Given the description of an element on the screen output the (x, y) to click on. 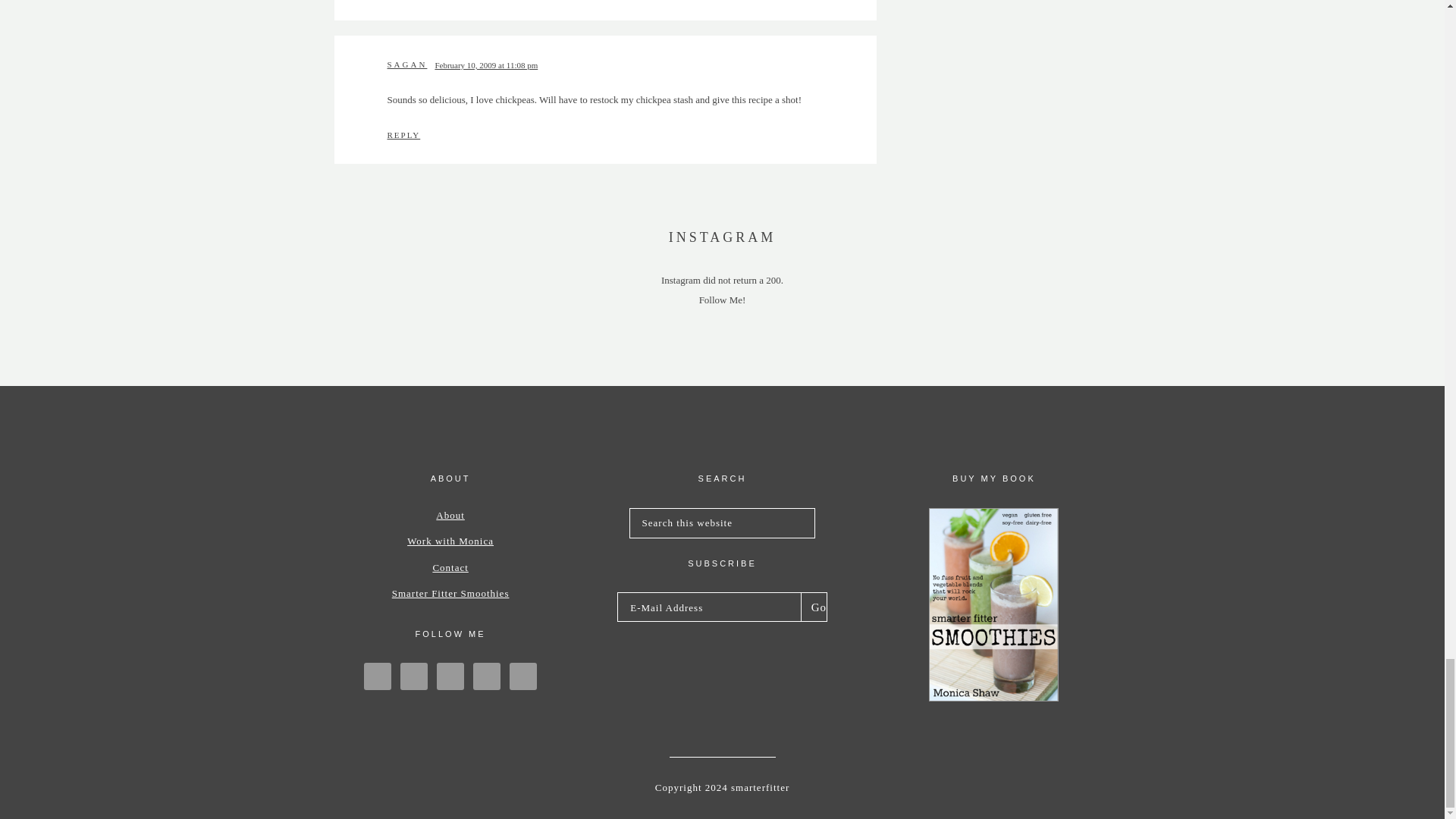
Smoothie eBook by monica.shaw, on Flickr (993, 697)
